Given the description of an element on the screen output the (x, y) to click on. 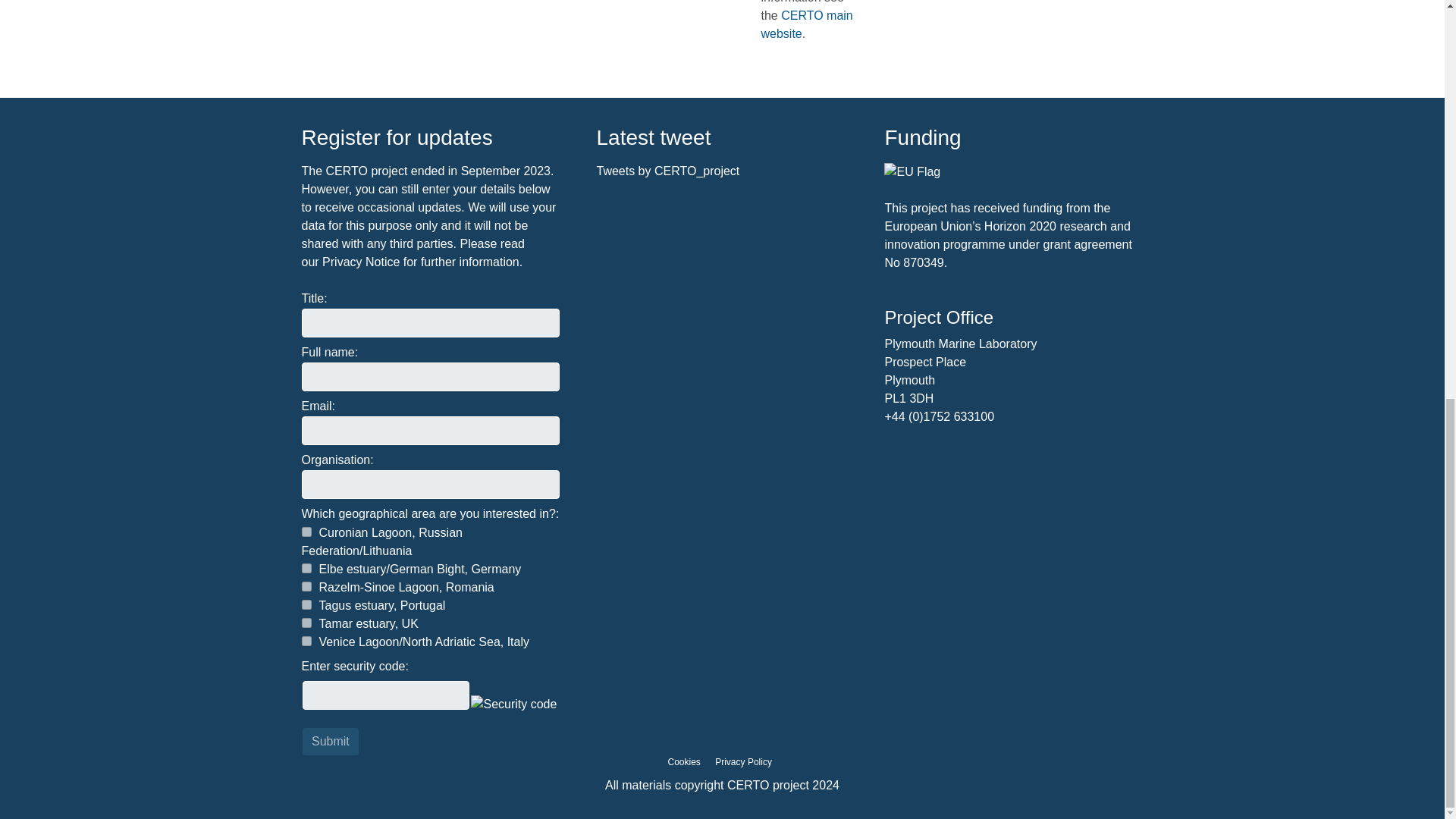
Cookies (683, 761)
Privacy Notice (359, 261)
Tagus estuary, Portugal (306, 604)
Submit (330, 741)
Submit (330, 741)
Tamar estuary, UK (306, 623)
Razelm-Sinoe Lagoon, Romania (306, 586)
CERTO main website (807, 24)
Privacy Policy (742, 761)
Plymouth Marine Laboratory (959, 343)
